Given the description of an element on the screen output the (x, y) to click on. 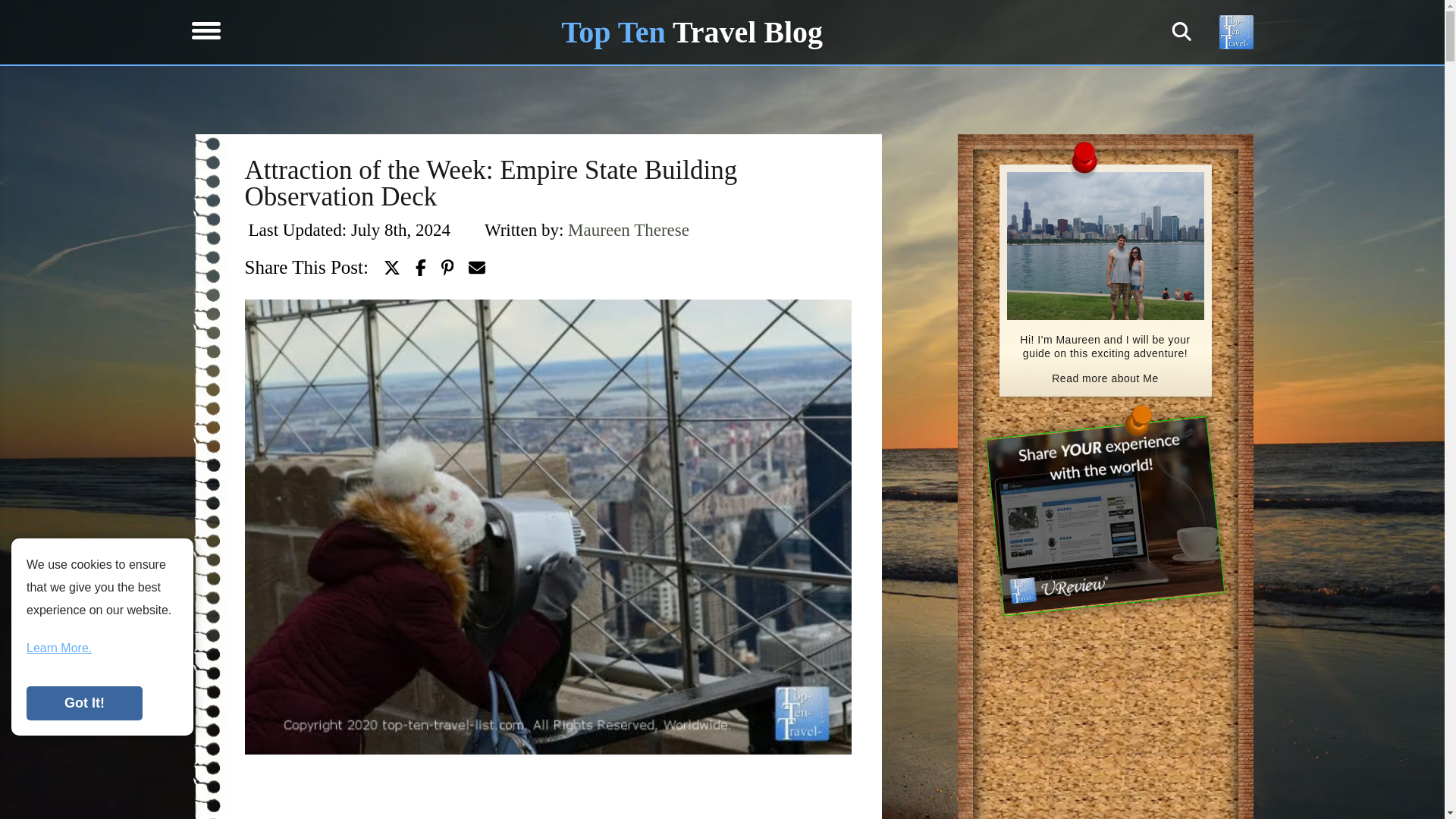
Top Ten Travel List Home (691, 32)
Top Ten Travel Blog (691, 32)
search Top Ten Travel Blog (1181, 32)
